Given the description of an element on the screen output the (x, y) to click on. 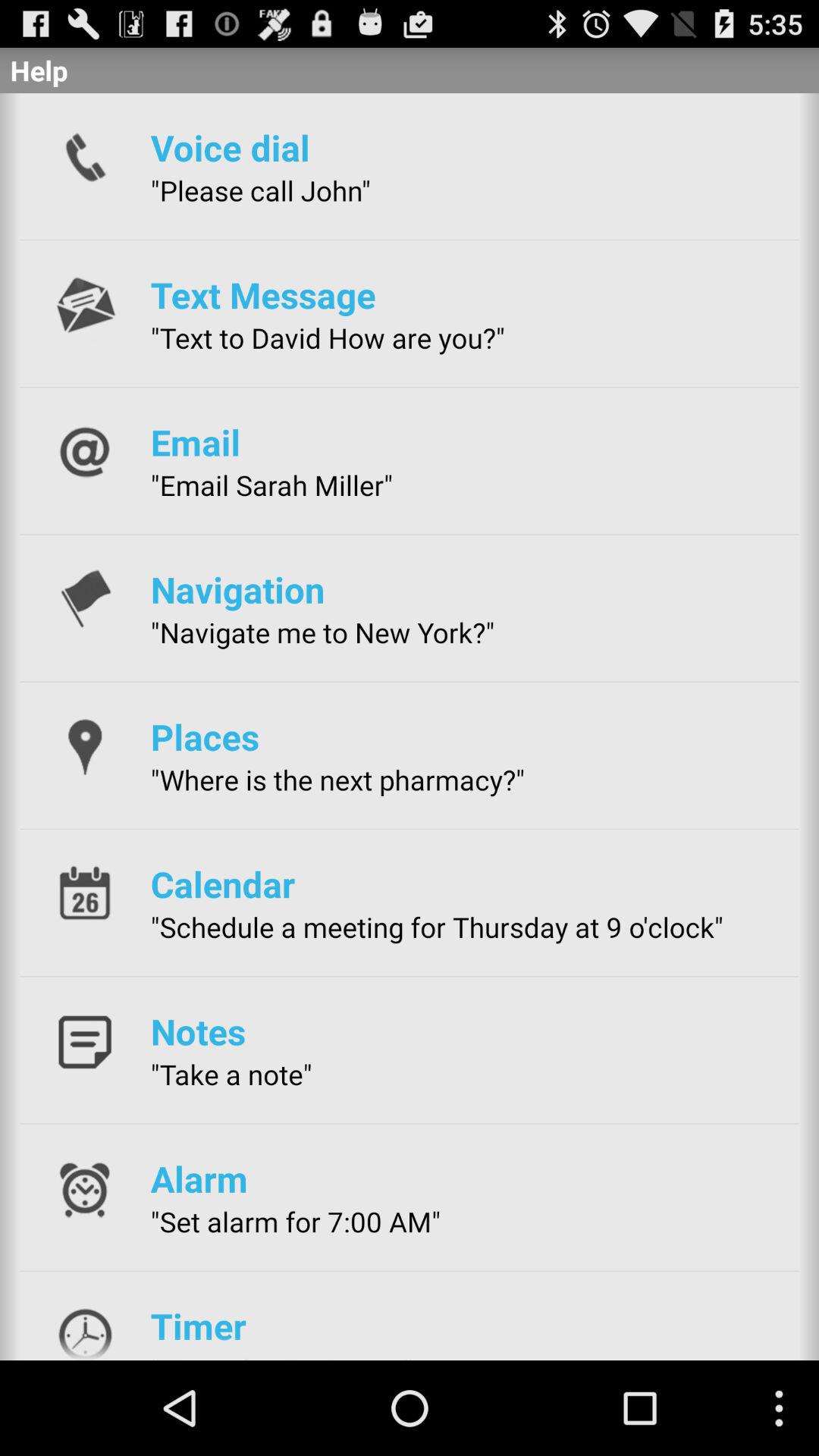
choose the item above the notes (436, 926)
